Given the description of an element on the screen output the (x, y) to click on. 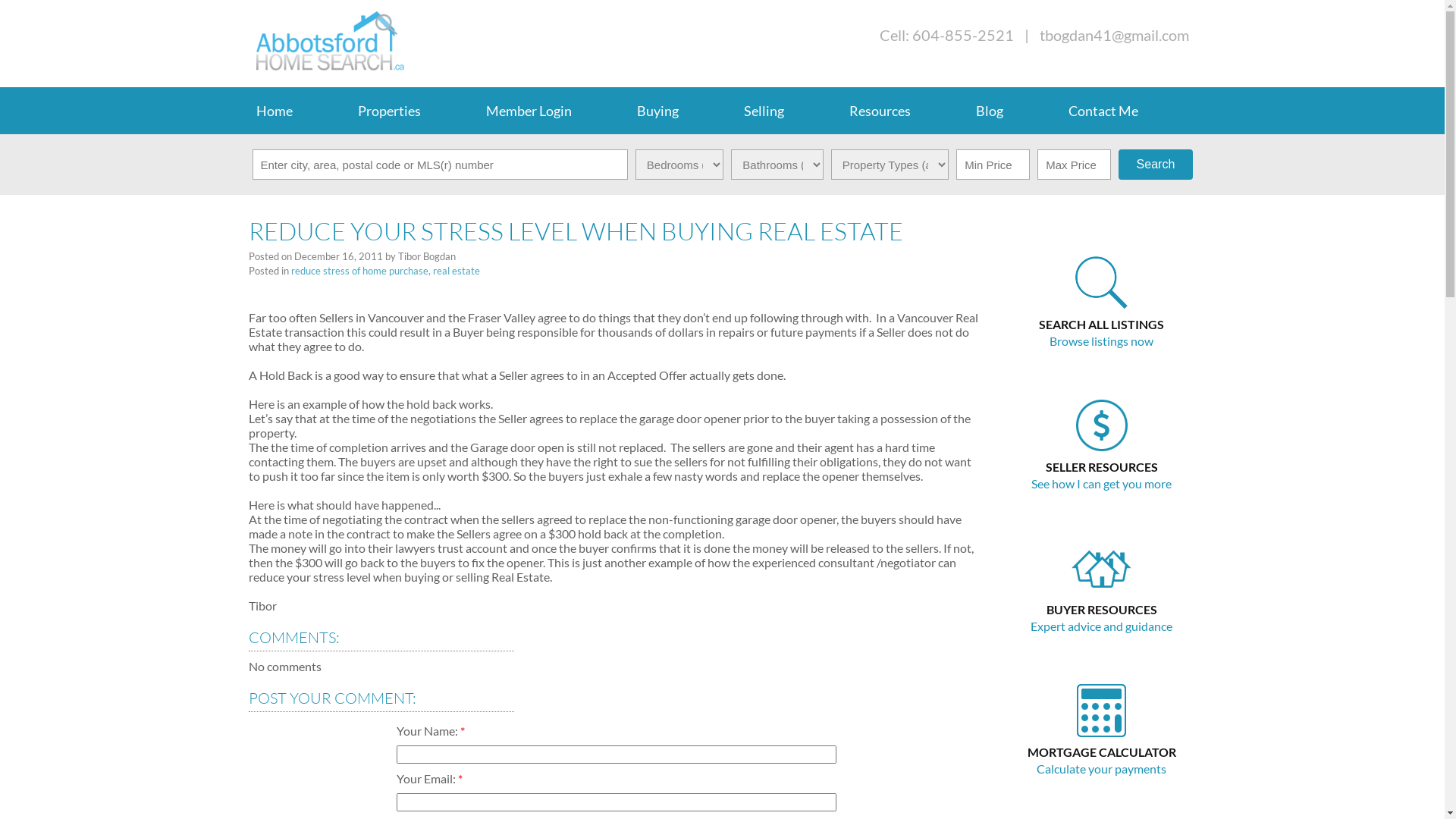
Member Login Element type: text (553, 110)
Buying Element type: text (682, 110)
Properties Element type: text (414, 110)
Blog Element type: text (1014, 110)
Calculate your payments Element type: text (1101, 768)
Home Element type: text (299, 110)
Expert advice and guidance Element type: text (1101, 625)
See how I can get you more Element type: text (1101, 483)
Contact Me Element type: text (1127, 110)
Browse listings now Element type: text (1101, 340)
Selling Element type: text (788, 110)
Search Element type: text (1155, 164)
tbogdan41@gmail.com Element type: text (1113, 34)
reduce stress of home purchase, real estate Element type: text (385, 270)
Resources Element type: text (904, 110)
